Given the description of an element on the screen output the (x, y) to click on. 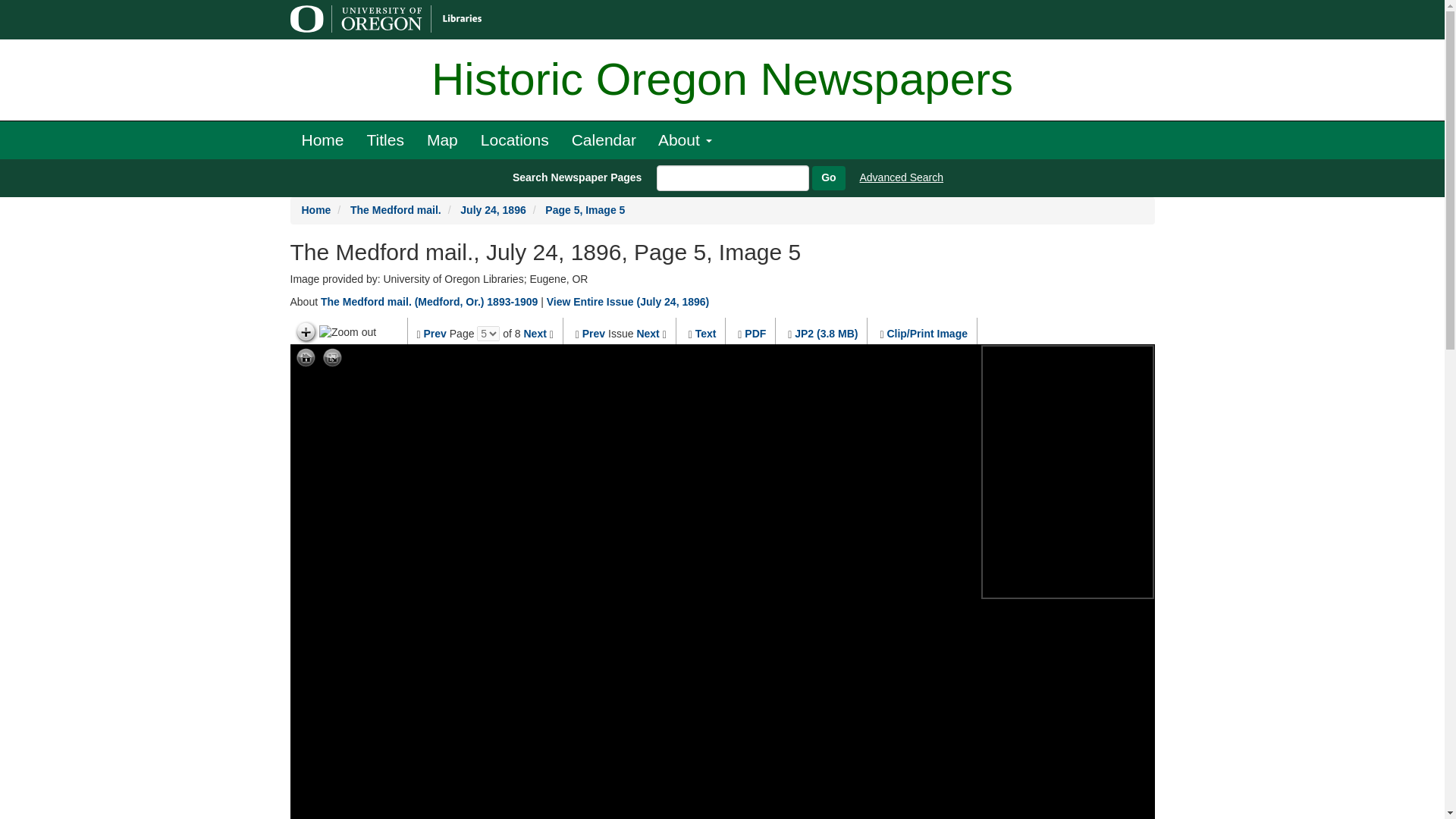
The Medford mail. (395, 209)
Prev (593, 333)
Home (322, 139)
Zoom in (305, 332)
Go home (305, 358)
Calendar (603, 139)
Toggle full page (332, 358)
Advanced Search (901, 177)
Text (705, 333)
Go (828, 178)
